Given the description of an element on the screen output the (x, y) to click on. 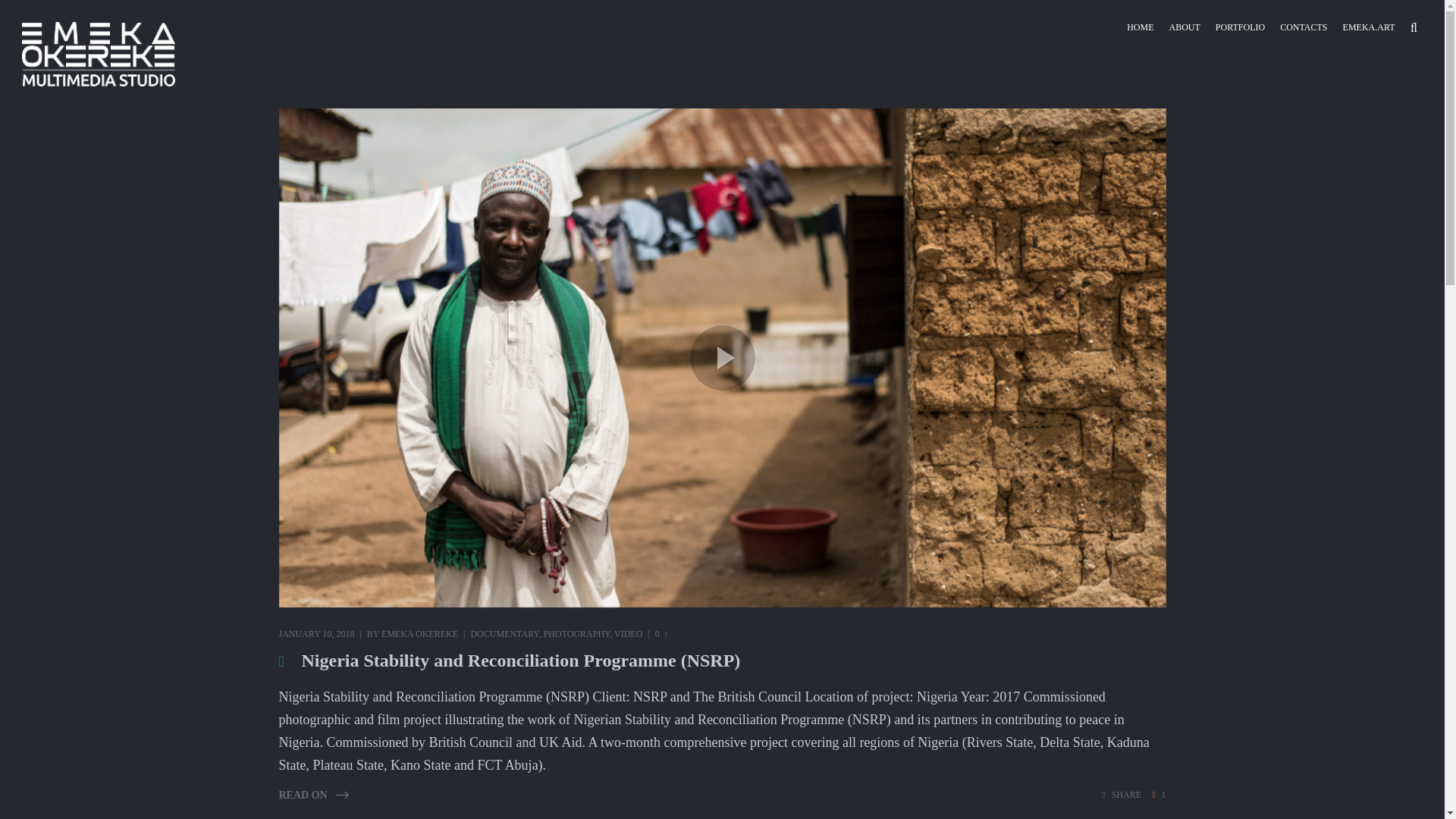
0 (661, 633)
SHARE (1121, 794)
VIDEO (628, 633)
Search (1416, 27)
PORTFOLIO (1240, 27)
EMEKA OKEREKE (419, 633)
Search (1416, 27)
DOCUMENTARY (504, 633)
PHOTOGRAPHY (576, 633)
READ ON (314, 794)
